Given the description of an element on the screen output the (x, y) to click on. 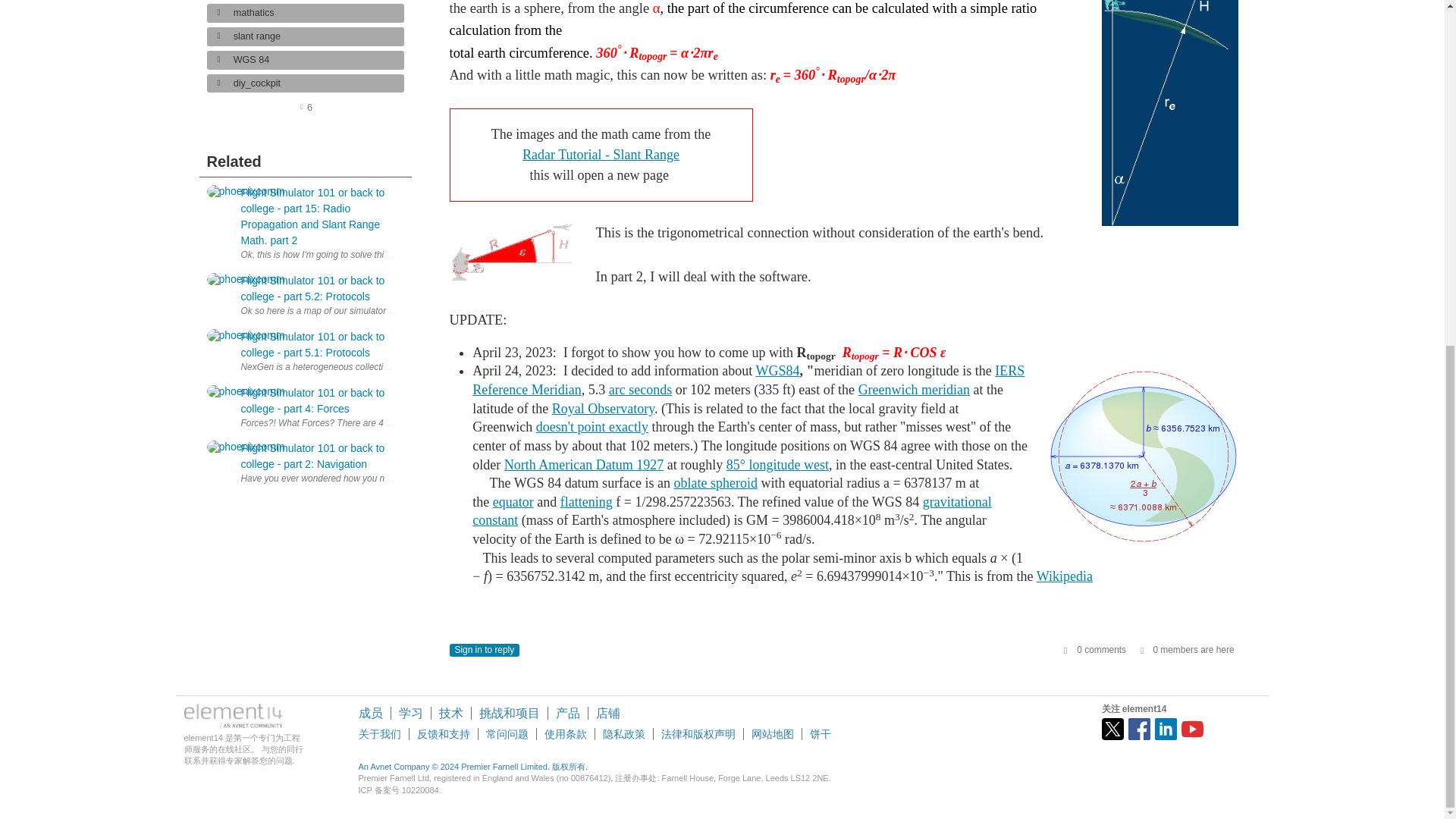
Minute of arc (639, 389)
IERS Reference Meridian (748, 380)
Greenwich meridian (914, 389)
Vertical deflection (591, 426)
Royal Observatory, Greenwich (602, 408)
